Given the description of an element on the screen output the (x, y) to click on. 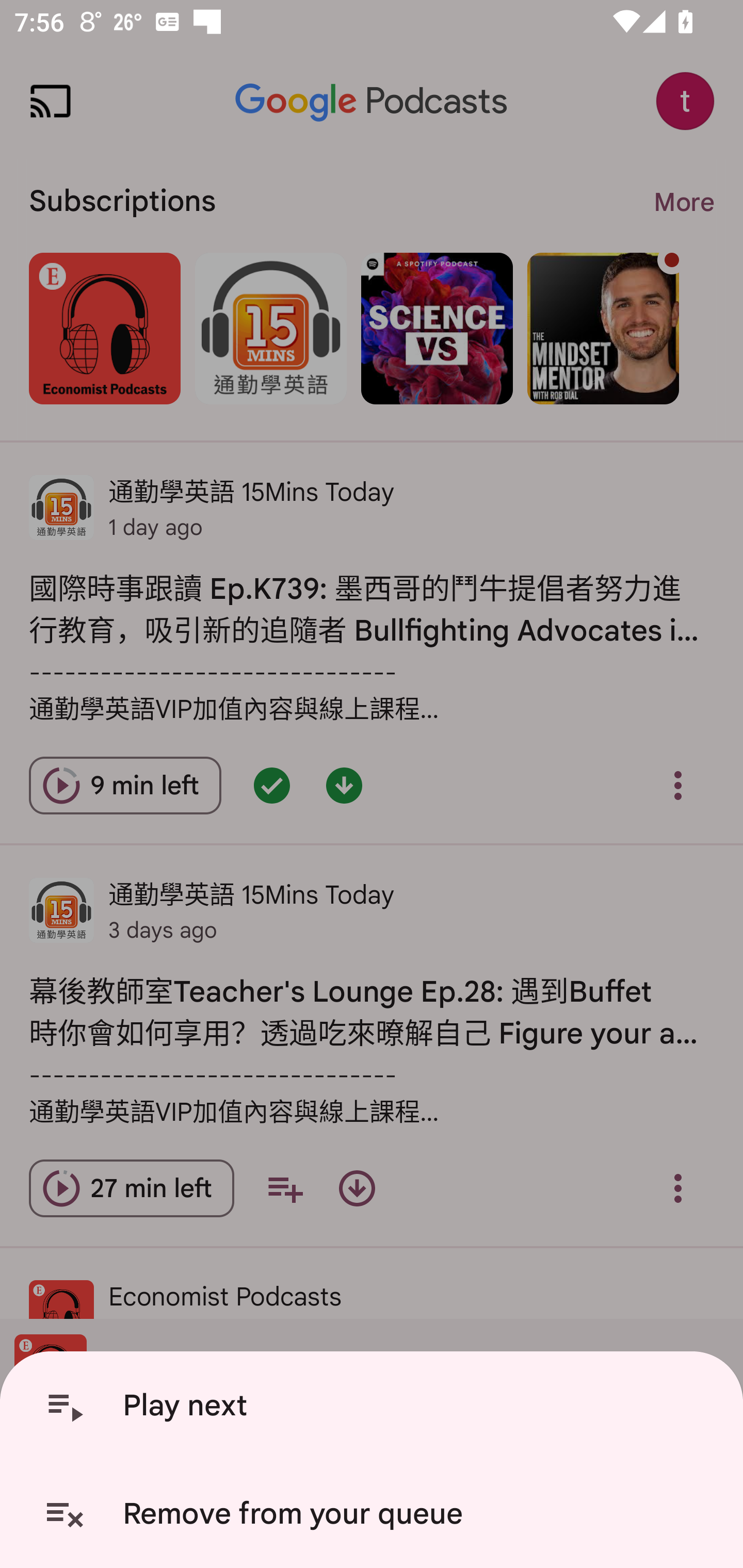
Play next (375, 1405)
Remove from your queue (375, 1513)
